Given the description of an element on the screen output the (x, y) to click on. 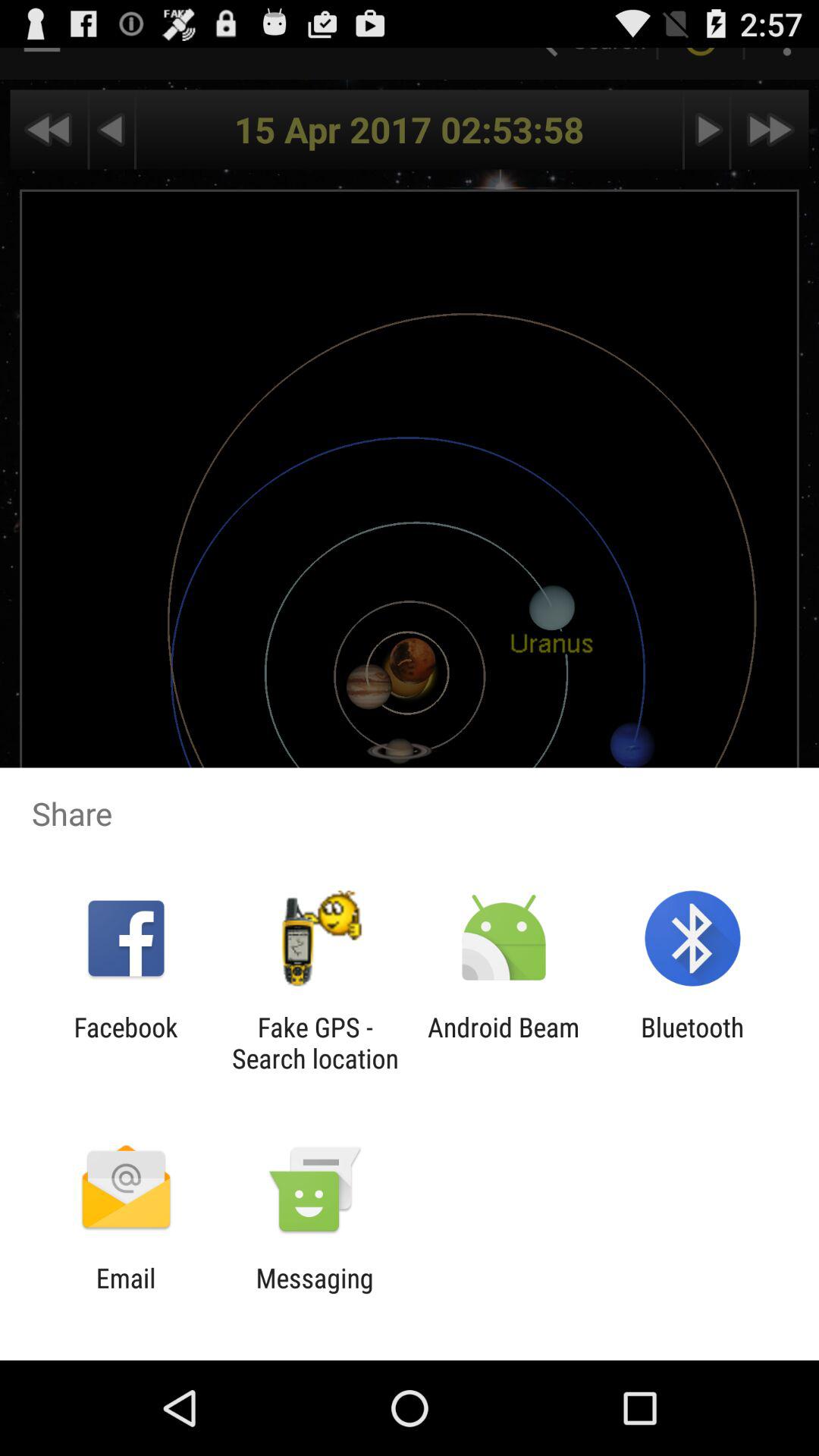
tap app to the left of the messaging app (125, 1293)
